Given the description of an element on the screen output the (x, y) to click on. 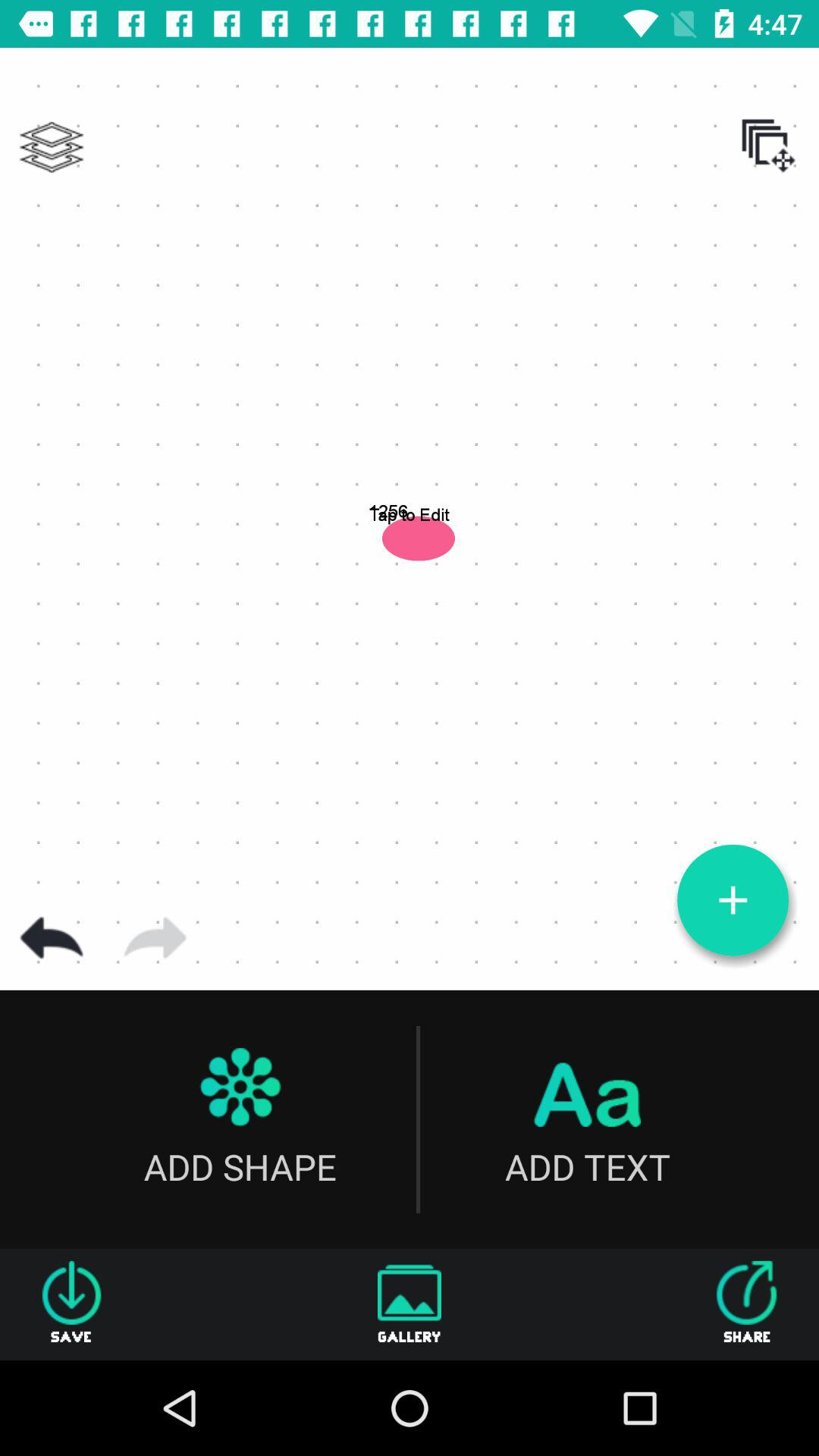
layer images shapes or text in a layout (51, 147)
